Given the description of an element on the screen output the (x, y) to click on. 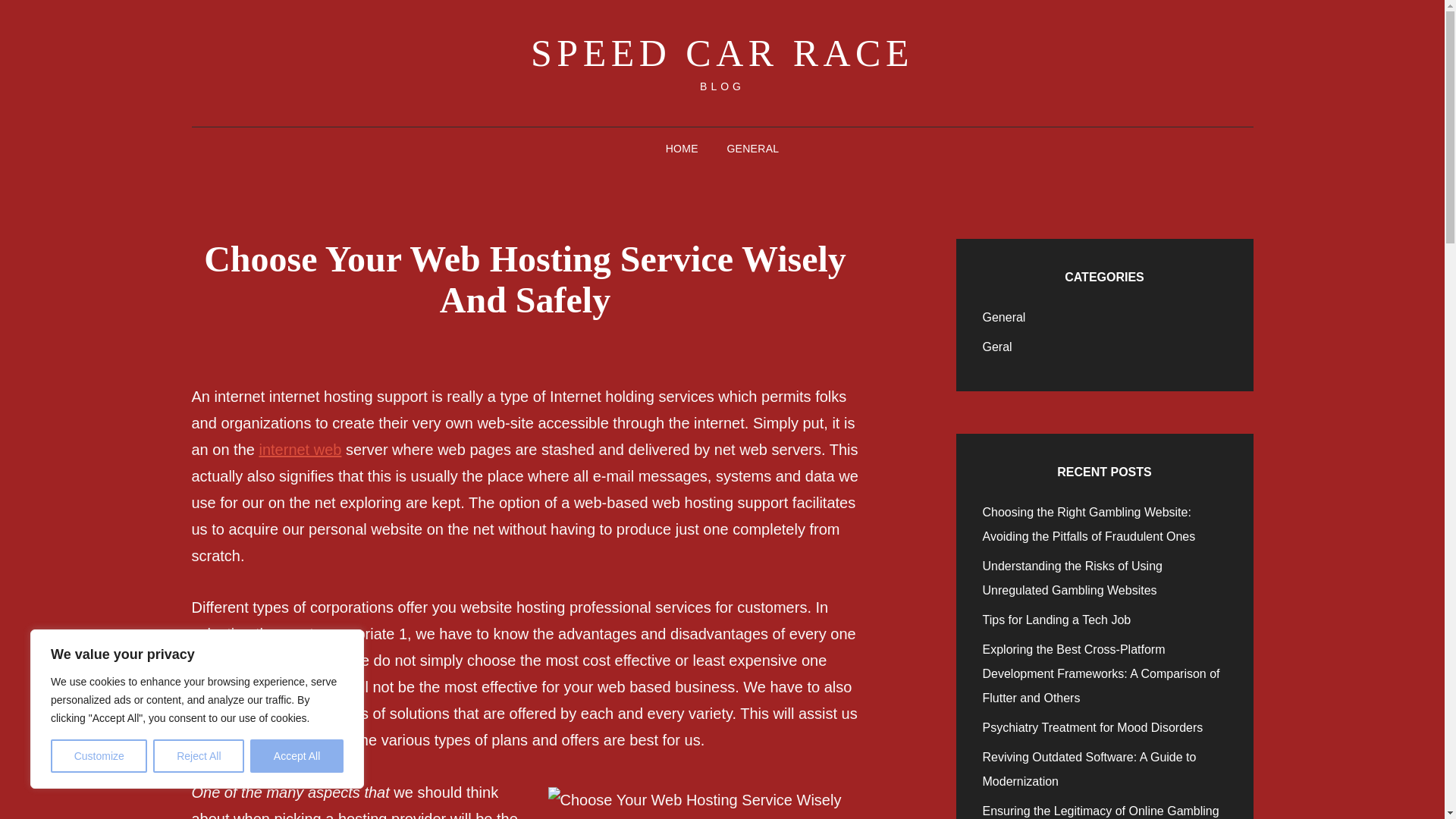
Reviving Outdated Software: A Guide to Modernization (1089, 769)
Accept All (296, 756)
GENERAL (752, 148)
Reject All (198, 756)
Ensuring the Legitimacy of Online Gambling Platforms (1101, 811)
General (1004, 317)
Geral (996, 346)
Tips for Landing a Tech Job (1056, 619)
SPEED CAR RACE (722, 52)
